Given the description of an element on the screen output the (x, y) to click on. 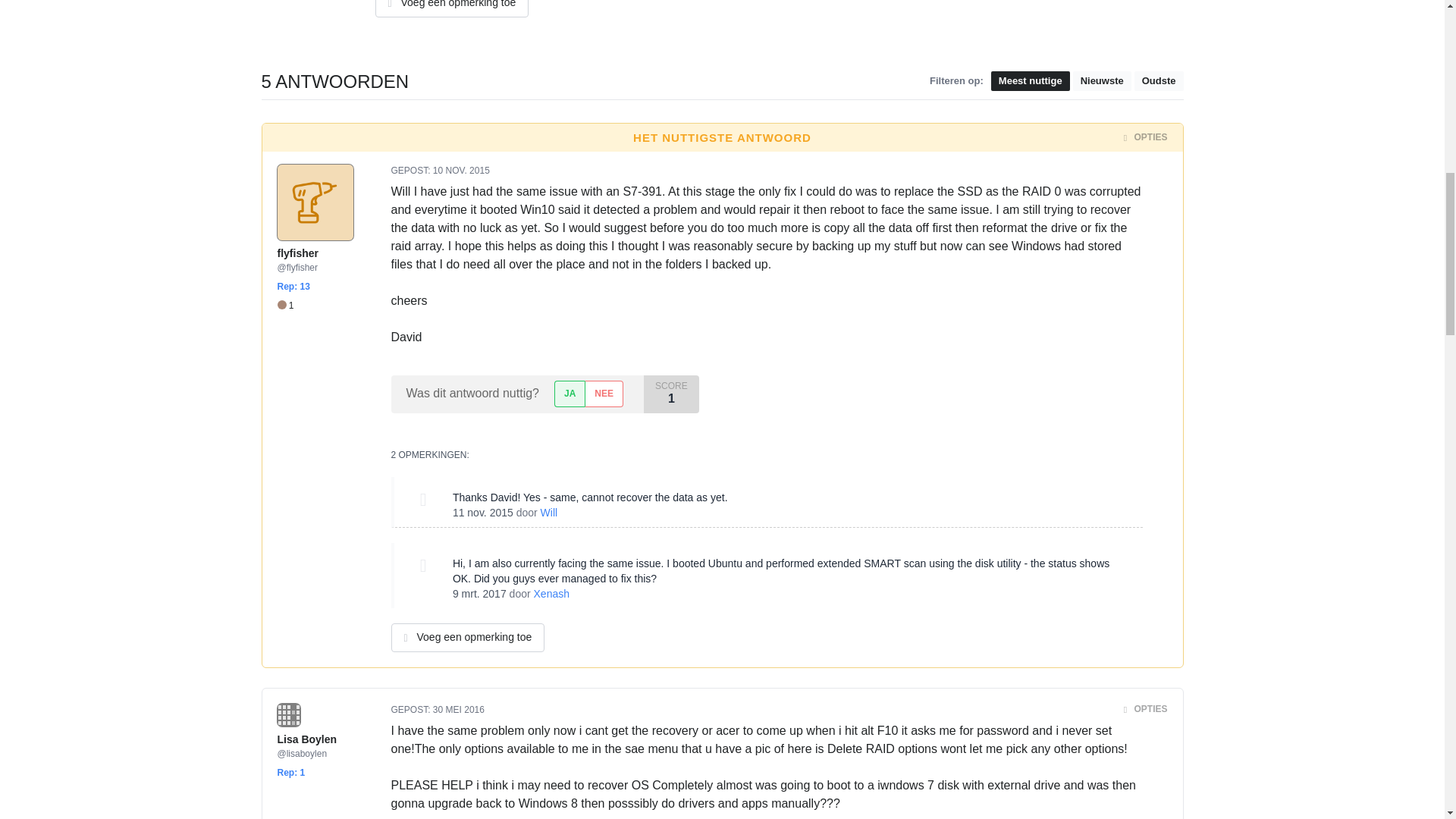
Wed, 11 Nov 2015 02:28:20 -0700 (482, 512)
Mon, 30 May 2016 23:37:40 -0700 (458, 709)
1 Brons badges (286, 305)
Tue, 10 Nov 2015 21:46:55 -0700 (460, 170)
Thu, 09 Mar 2017 06:01:32 -0700 (479, 593)
